Given the description of an element on the screen output the (x, y) to click on. 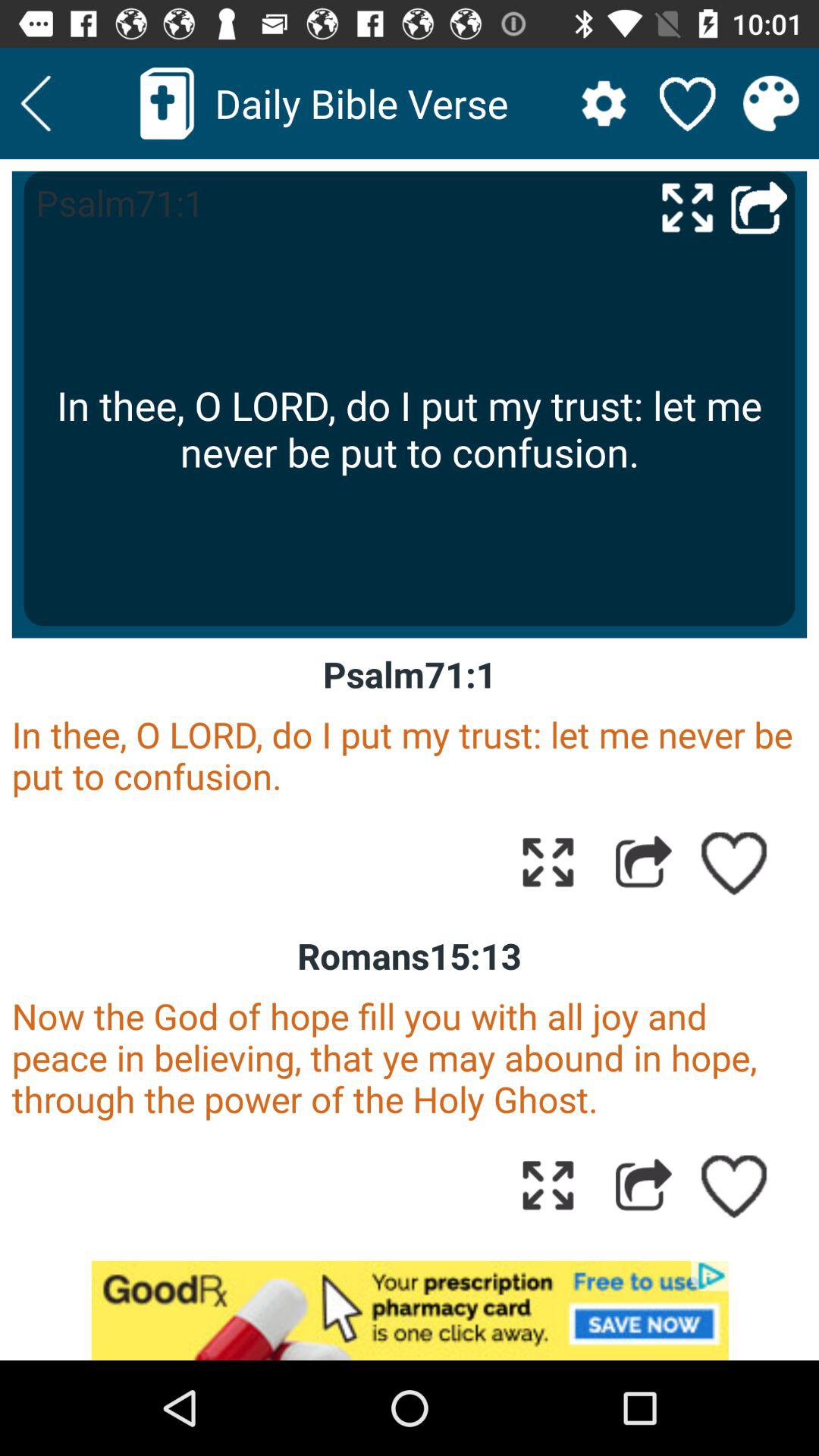
expand (548, 1184)
